Given the description of an element on the screen output the (x, y) to click on. 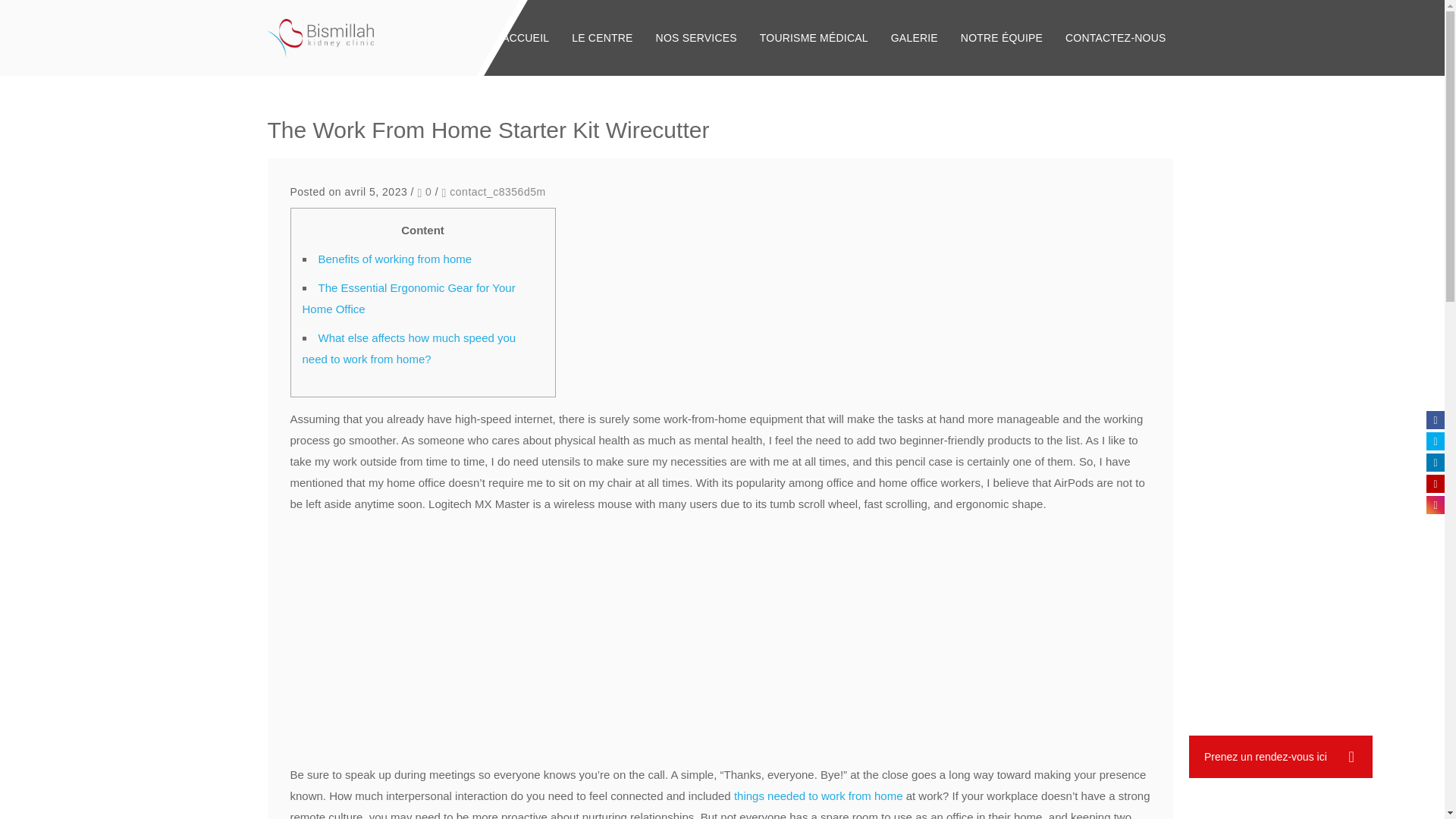
Benefits of working from home (394, 258)
NOS SERVICES (696, 38)
Prenez un rendez-vous ici (1281, 756)
Bismillah Kidney Center Casablanca (320, 37)
GALERIE (914, 38)
LE CENTRE (601, 38)
ACCUEIL (525, 38)
CONTACTEZ-NOUS (1115, 38)
0 (423, 191)
things needed to work from home (817, 795)
The Essential Ergonomic Gear for Your Home Office (408, 298)
What else affects how much speed you need to work from home? (408, 348)
